Given the description of an element on the screen output the (x, y) to click on. 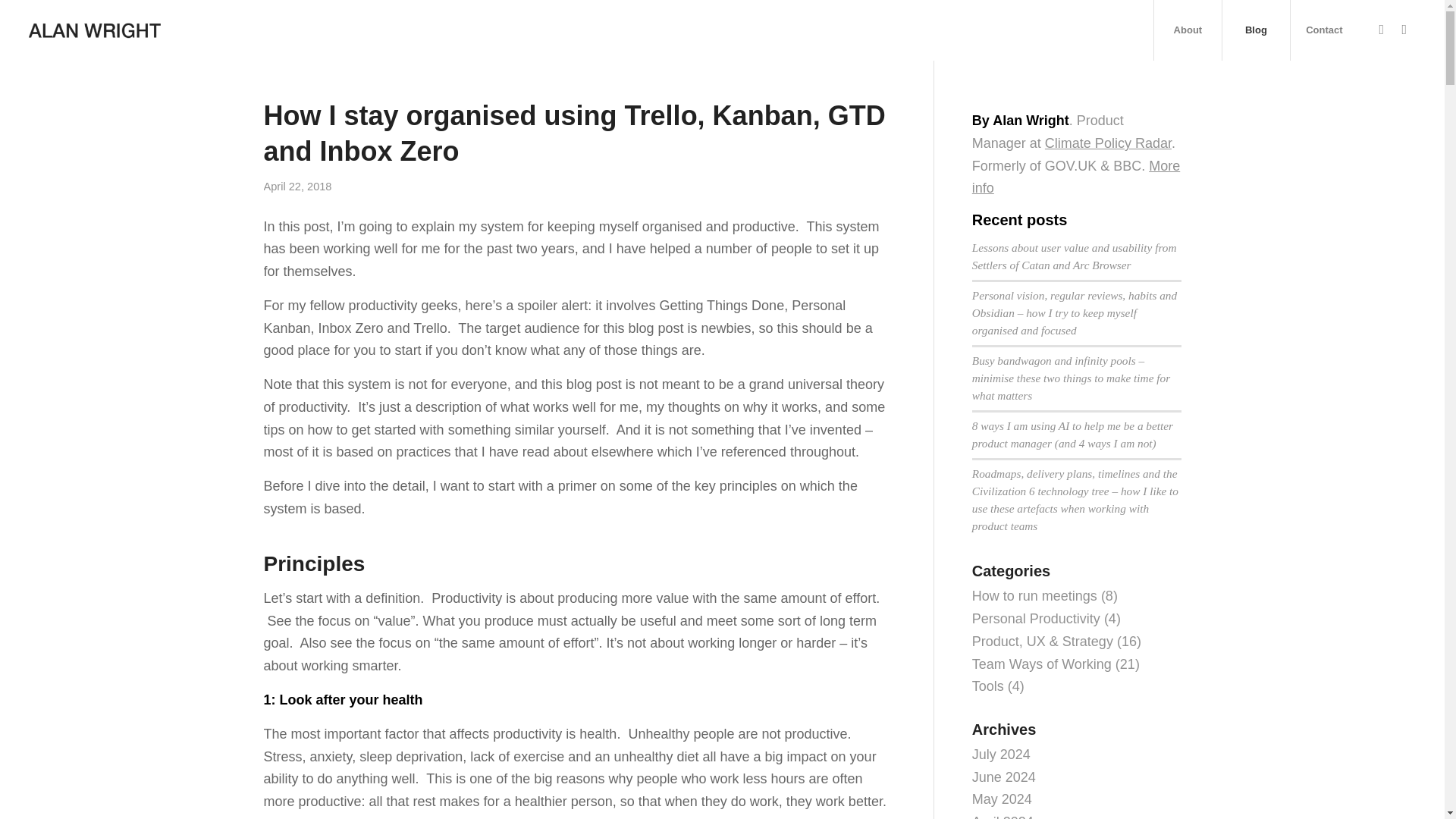
Contact (1324, 30)
Linkedin (1404, 29)
Twitter (1381, 29)
More info (1075, 177)
Blog (1255, 30)
About (1187, 30)
Climate Policy Radar (1108, 142)
